Given the description of an element on the screen output the (x, y) to click on. 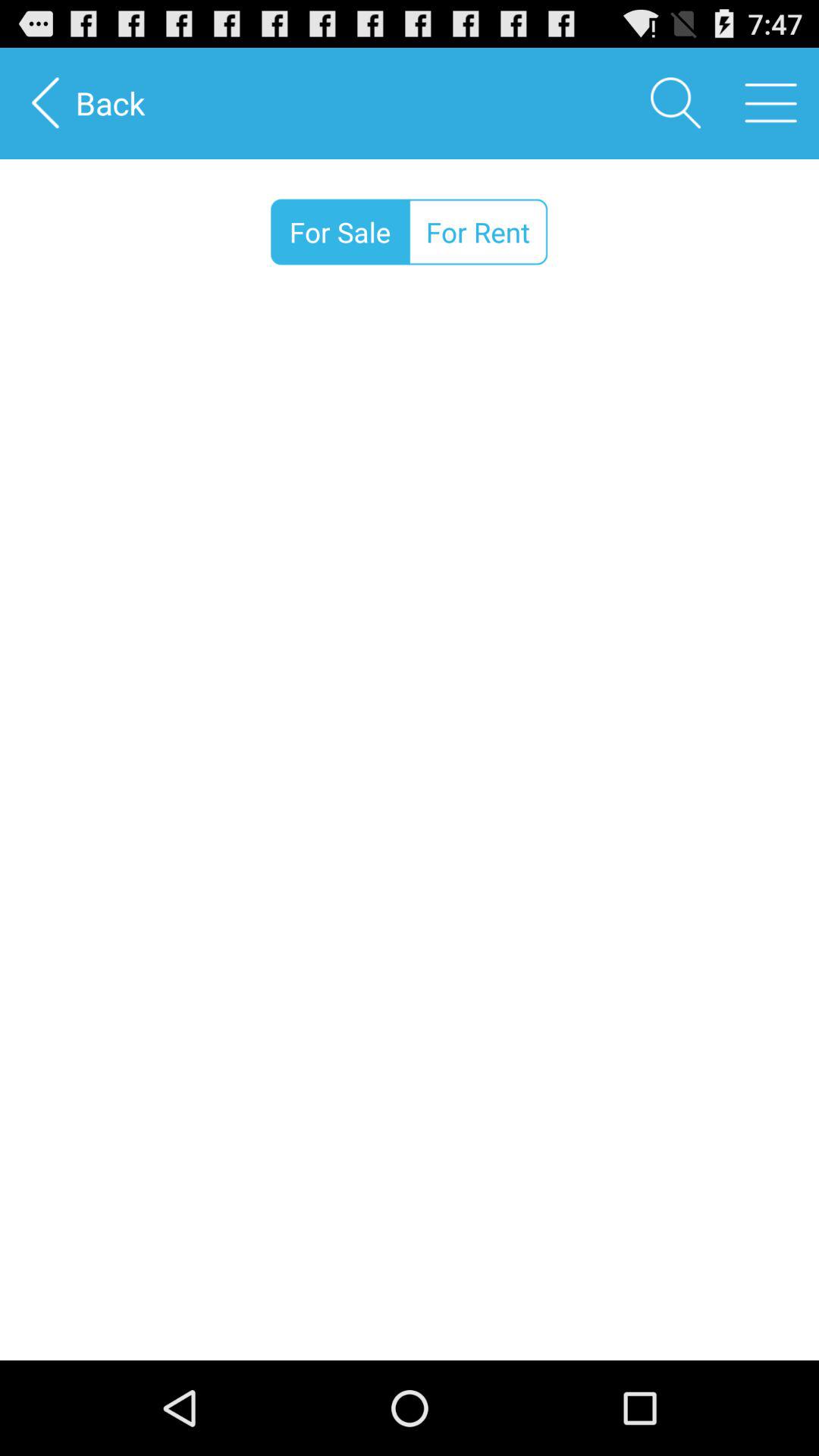
click the item to the right of the back item (675, 103)
